Given the description of an element on the screen output the (x, y) to click on. 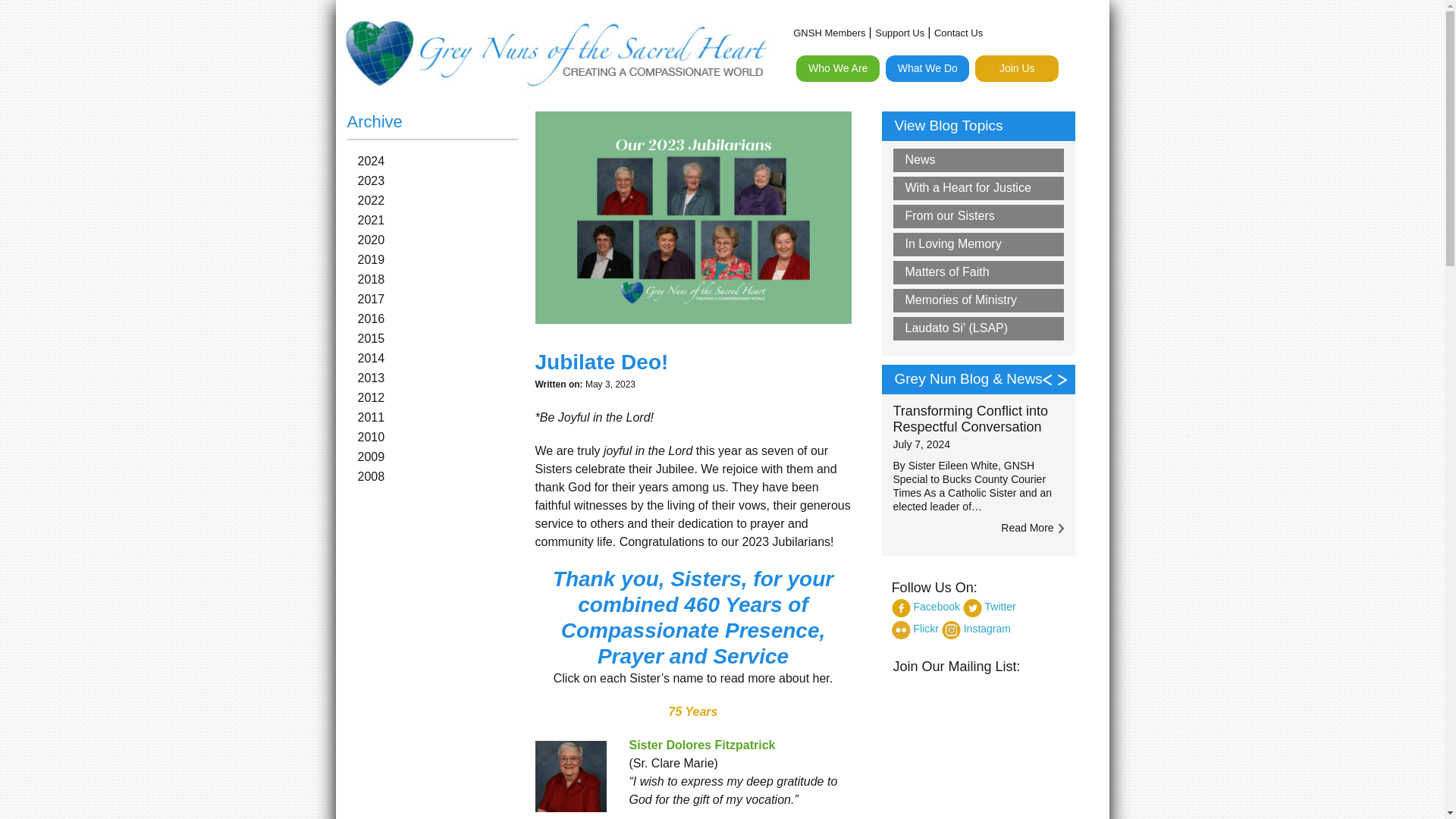
Celebrating our 100th Anniversary 1921-2021 (882, 103)
Who We Are (837, 68)
Our Mission (882, 134)
Support Us (899, 33)
Join Us (1016, 68)
Becoming a Partner in Mission (1061, 120)
Contact Us (958, 33)
Please Support Us (1061, 169)
Our Foundress (882, 159)
Contact Us (882, 256)
What We Do (927, 68)
Advocacy (972, 120)
Creating a Compassionate World (972, 96)
Our Story (882, 183)
Ministry (972, 145)
